Given the description of an element on the screen output the (x, y) to click on. 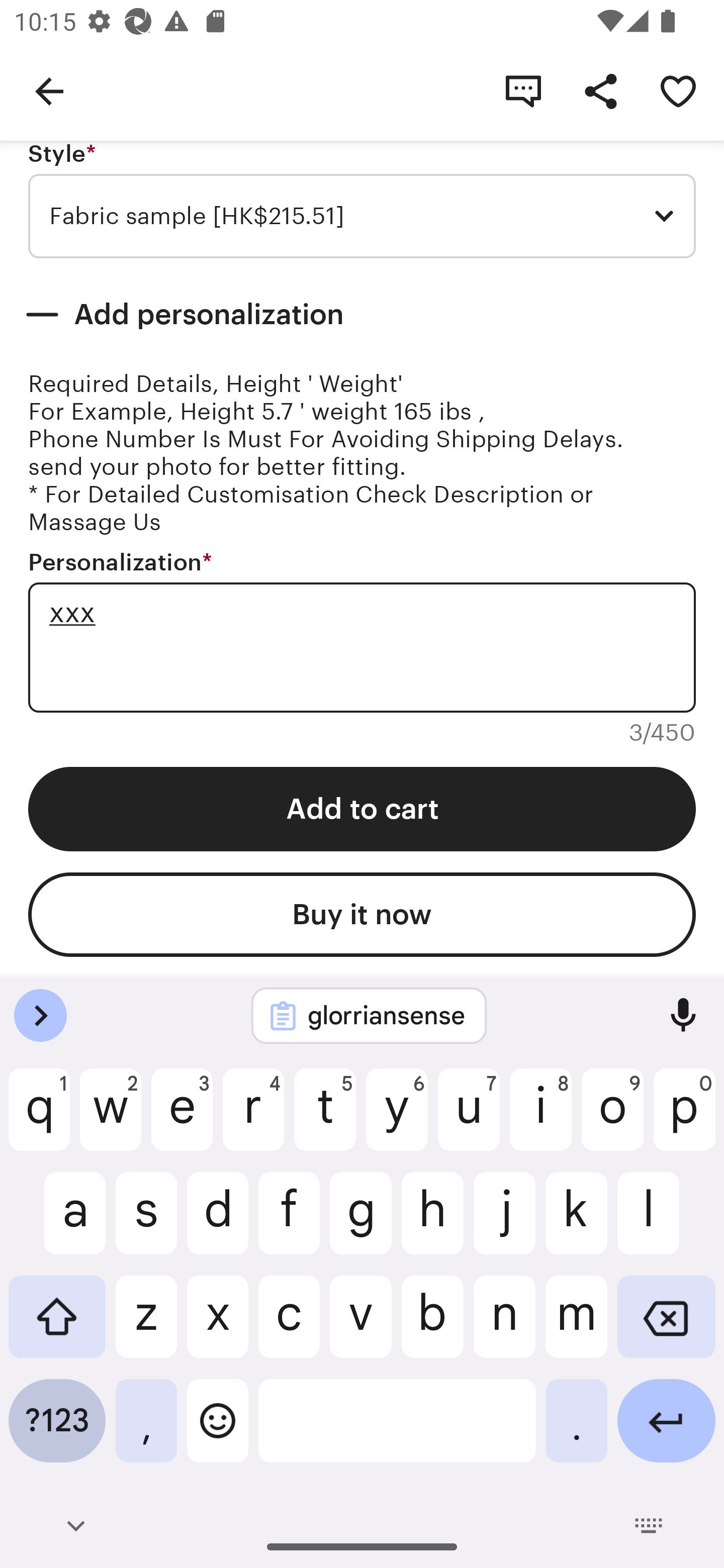
Navigate up (49, 90)
Contact shop (523, 90)
Share (600, 90)
Style * Required Fabric sample [HK$215.51] (361, 199)
Fabric sample [HK$215.51] (361, 216)
Add personalization Add personalization Required (362, 314)
xxx (361, 646)
Add to cart (361, 808)
Buy it now (361, 913)
